Given the description of an element on the screen output the (x, y) to click on. 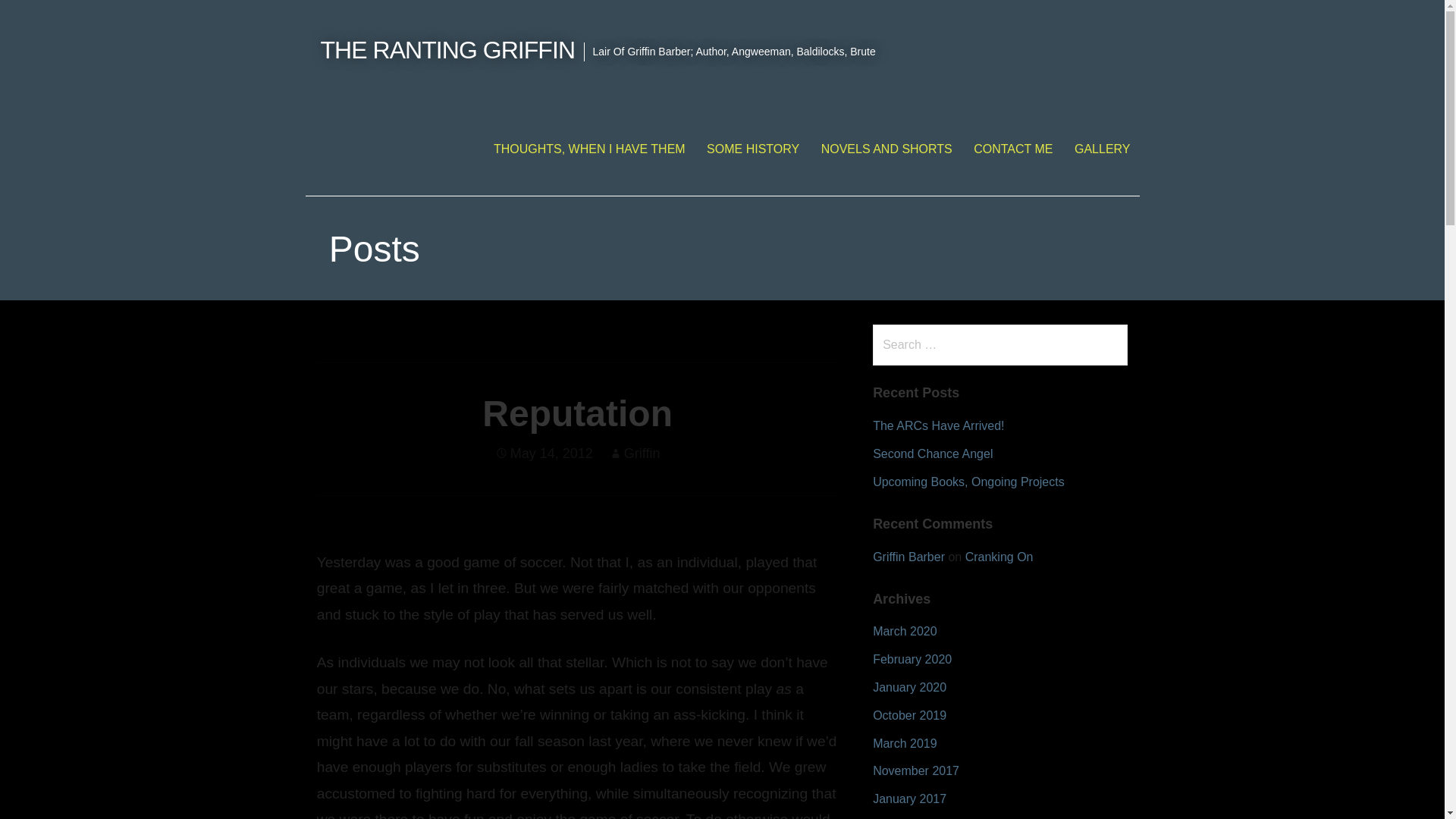
February 2020 (912, 658)
March 2020 (904, 631)
March 2019 (904, 743)
THOUGHTS, WHEN I HAVE THEM (589, 148)
Posts by Griffin (642, 453)
Cranking On (999, 556)
The ARCs Have Arrived! (938, 425)
January 2017 (909, 798)
January 2020 (909, 686)
October 2019 (909, 715)
